Given the description of an element on the screen output the (x, y) to click on. 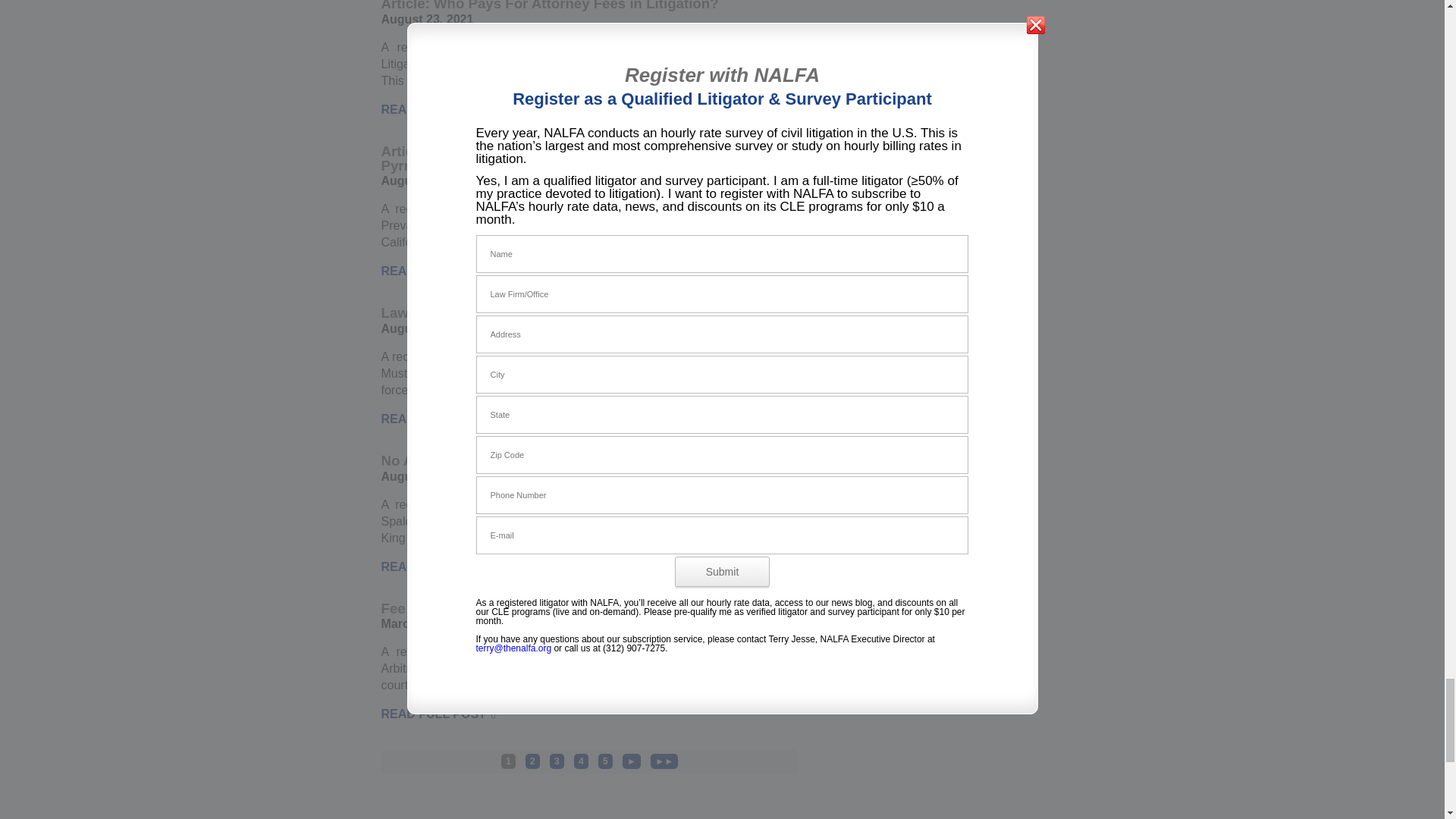
5 (605, 761)
READ FULL POST (438, 566)
READ FULL POST (438, 109)
2 (532, 761)
Article: Who Pays For Attorney Fees in Litigation? (548, 5)
No Arbitration for Attorney-Client Fee Dispute (533, 460)
Fee Dispute Sent to Arbitration Despite Illegal Fee Clause (572, 608)
Law Firm Wants Attorney Fee Dispute in Arbitration (553, 312)
1 (507, 761)
